Given the description of an element on the screen output the (x, y) to click on. 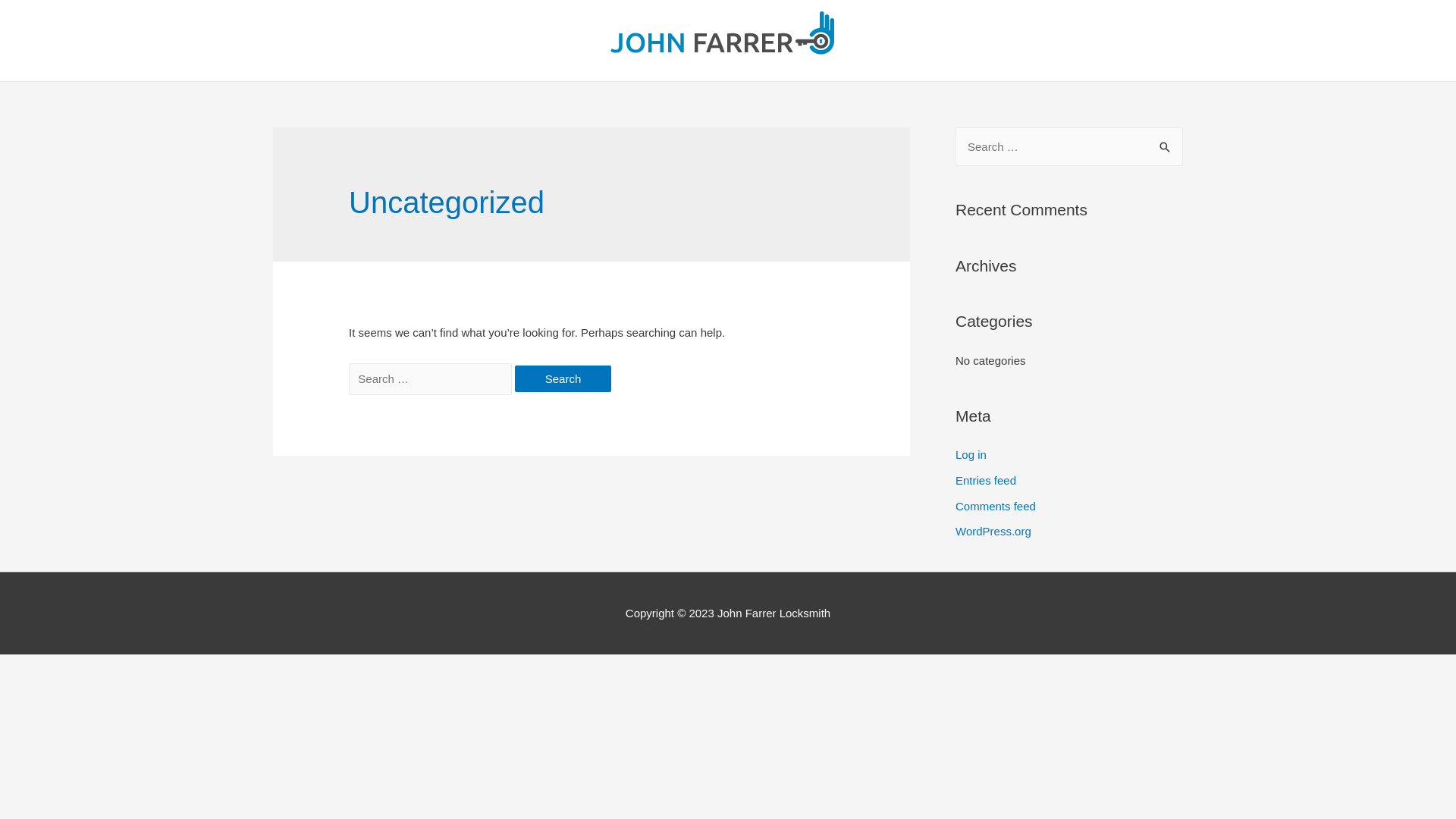
Search Element type: text (1165, 142)
WordPress.org Element type: text (993, 530)
Log in Element type: text (970, 454)
Search Element type: text (562, 378)
Comments feed Element type: text (995, 504)
Entries feed Element type: text (985, 479)
